Given the description of an element on the screen output the (x, y) to click on. 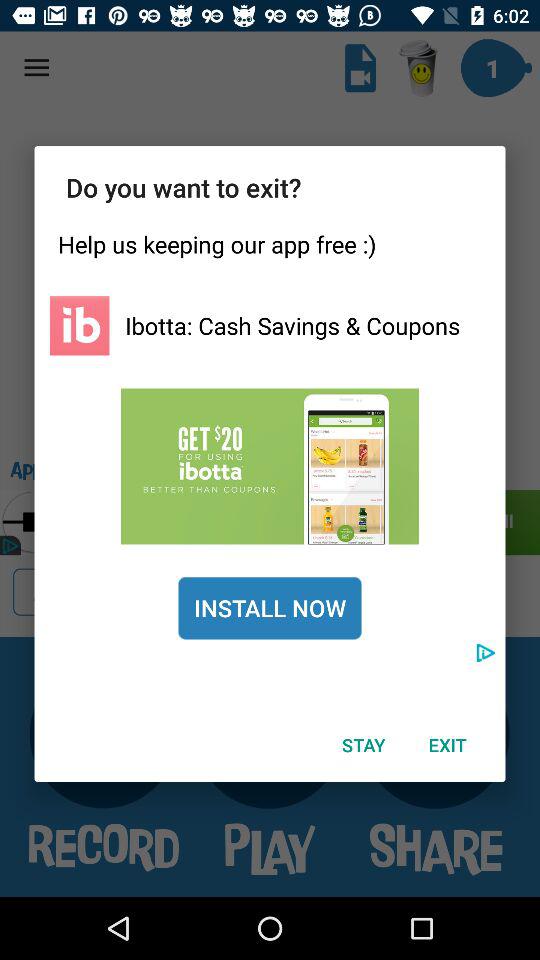
open the item above the stay item (269, 607)
